Given the description of an element on the screen output the (x, y) to click on. 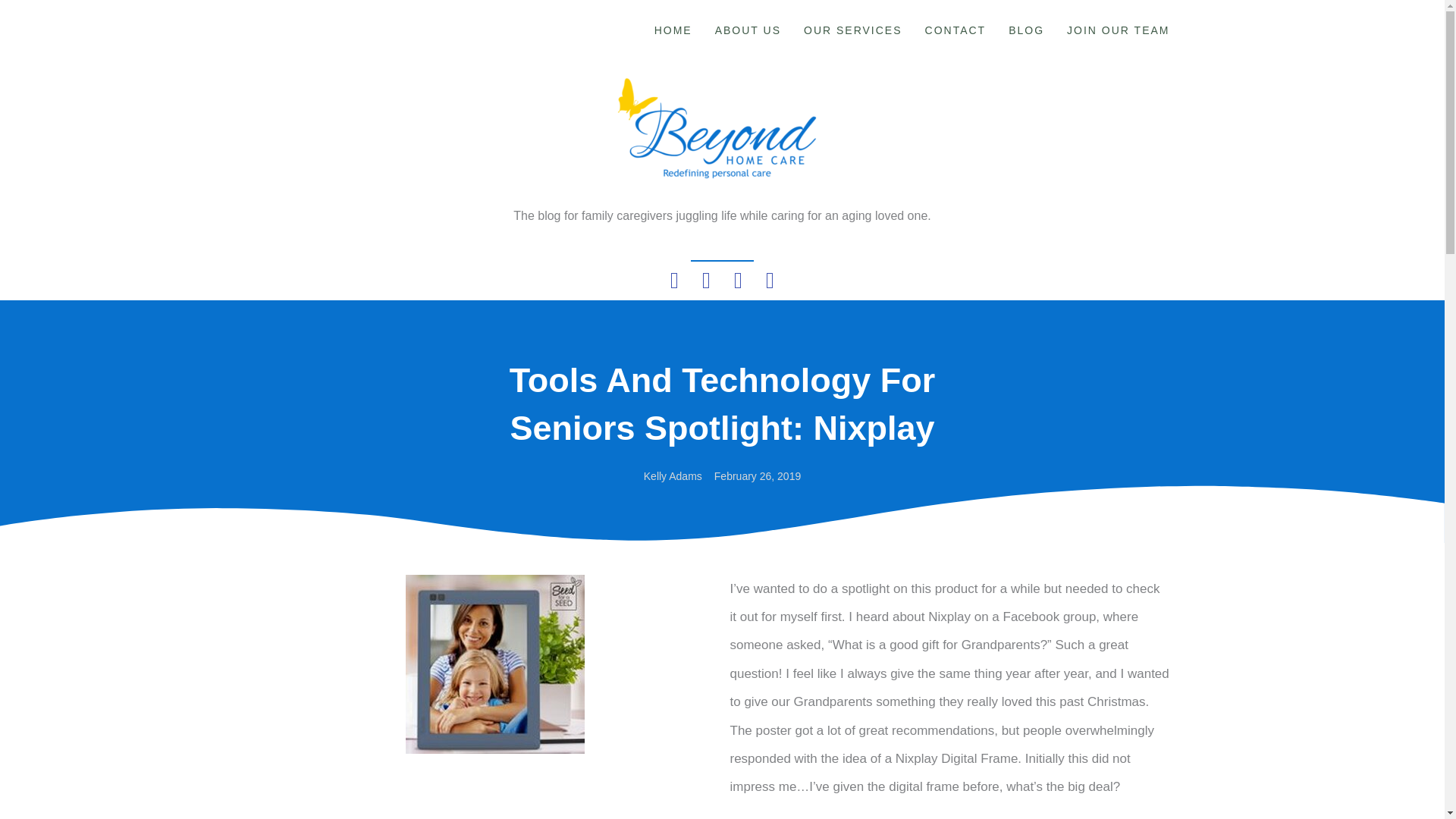
Kelly Adams (672, 476)
CONTACT (955, 30)
February 26, 2019 (757, 476)
ABOUT US (747, 30)
OUR SERVICES (852, 30)
JOIN OUR TEAM (1118, 30)
